Given the description of an element on the screen output the (x, y) to click on. 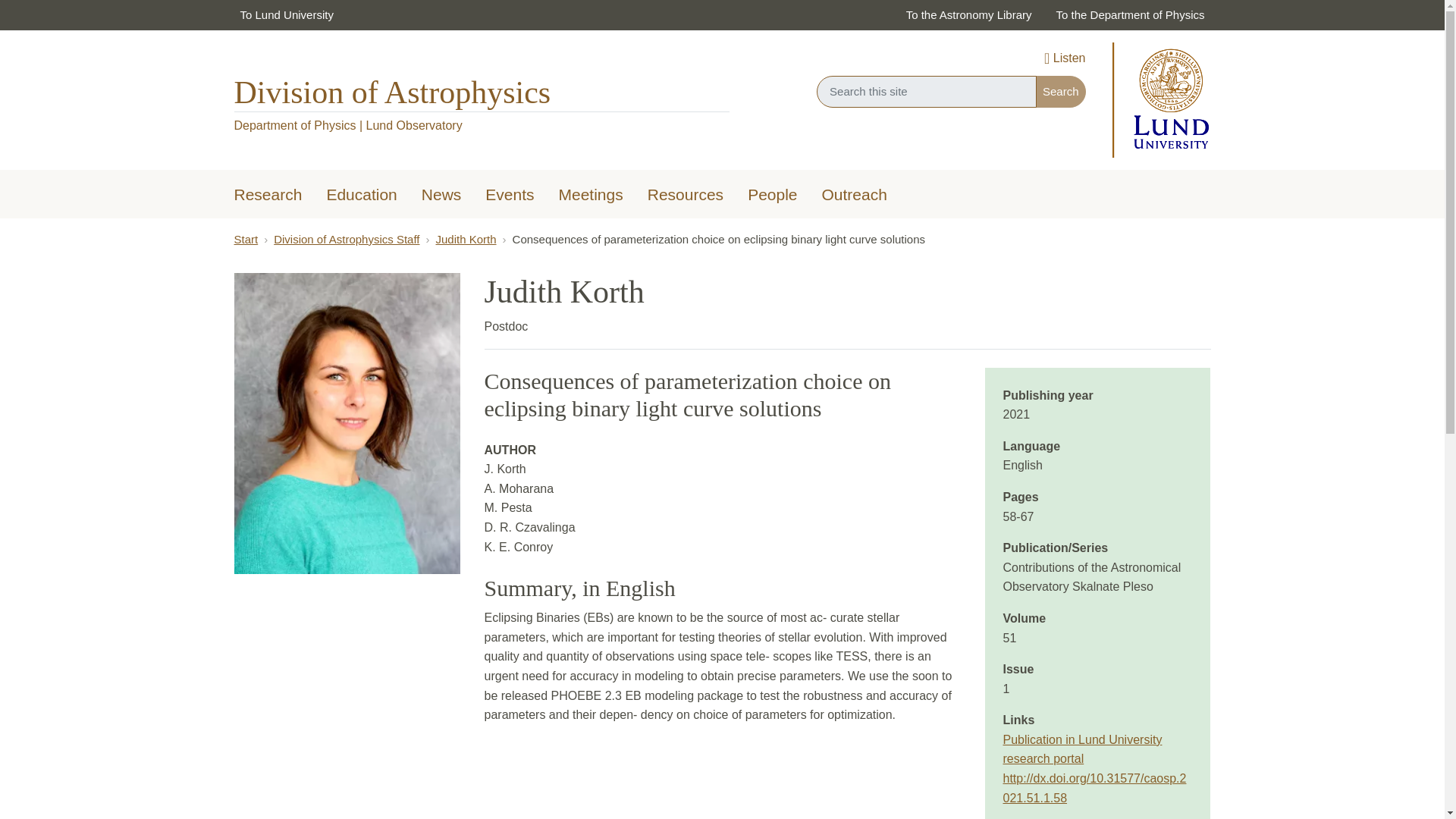
Research (267, 195)
To Lund University (286, 15)
Events (509, 195)
News (441, 195)
Search (1060, 91)
To the Astronomy Library (968, 15)
Education (361, 195)
Listen (1063, 59)
To the Department of Physics (1130, 15)
Resources (684, 195)
Search (1060, 91)
Division of Astrophysics (391, 92)
Meetings (590, 195)
